Given the description of an element on the screen output the (x, y) to click on. 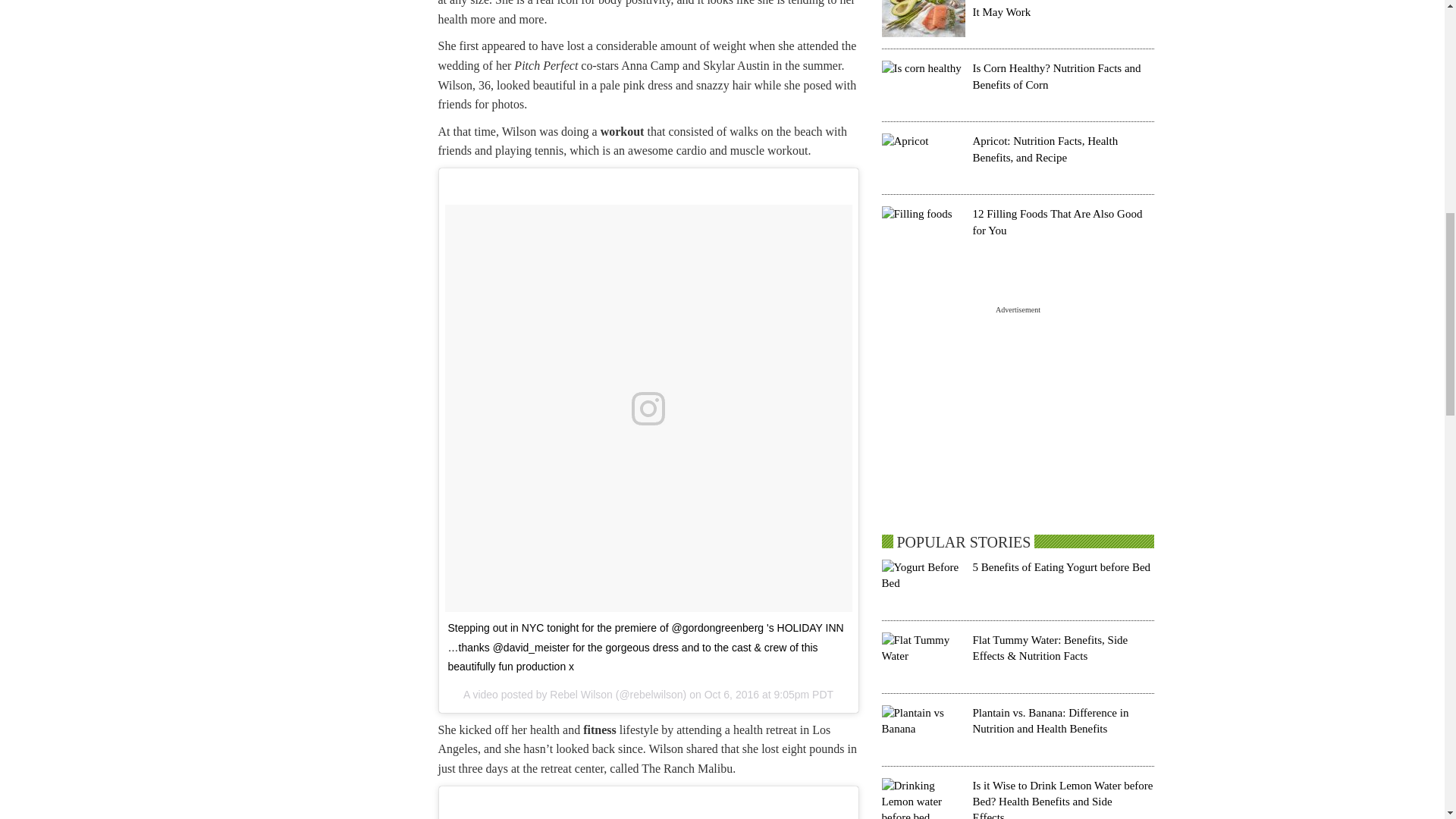
Is Corn Healthy? Nutrition Facts and Benefits of Corn (1056, 76)
